Given the description of an element on the screen output the (x, y) to click on. 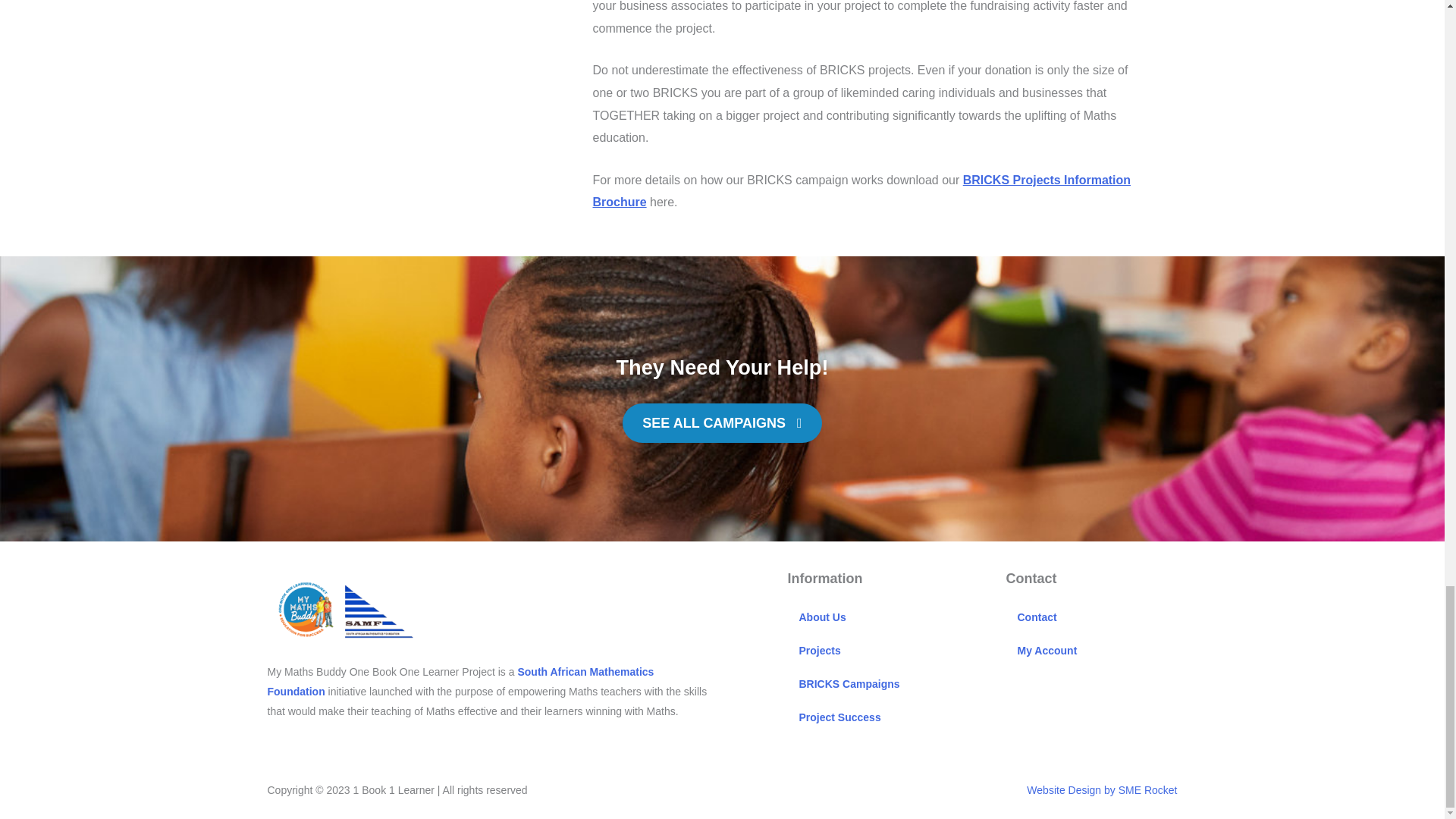
About Us (892, 616)
Projects (892, 650)
1B1L and SAMF Logo v2 (342, 609)
BRICKS Projects Information Brochure (861, 191)
SEE ALL CAMPAIGNS (722, 423)
South African Mathematics Foundation (459, 681)
